Given the description of an element on the screen output the (x, y) to click on. 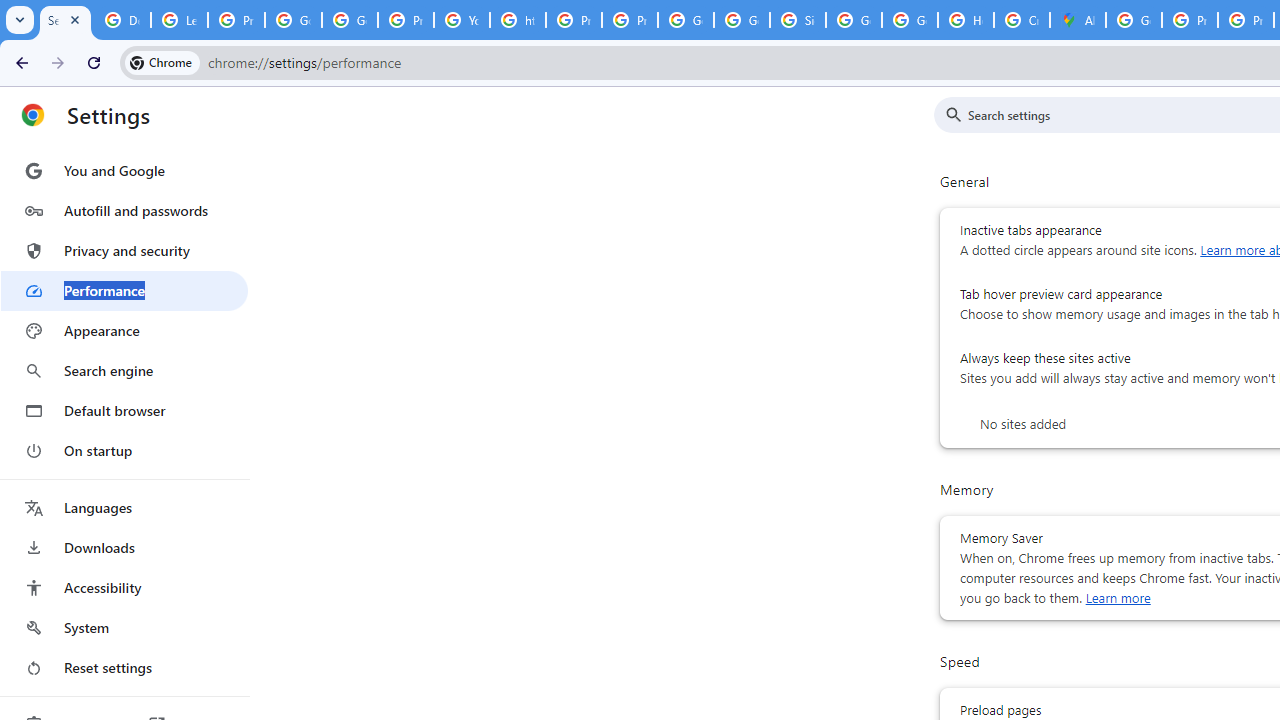
Appearance (124, 331)
https://scholar.google.com/ (518, 20)
Languages (124, 507)
Privacy Help Center - Policies Help (573, 20)
Performance (124, 290)
Accessibility (124, 587)
Delete photos & videos - Computer - Google Photos Help (122, 20)
